Given the description of an element on the screen output the (x, y) to click on. 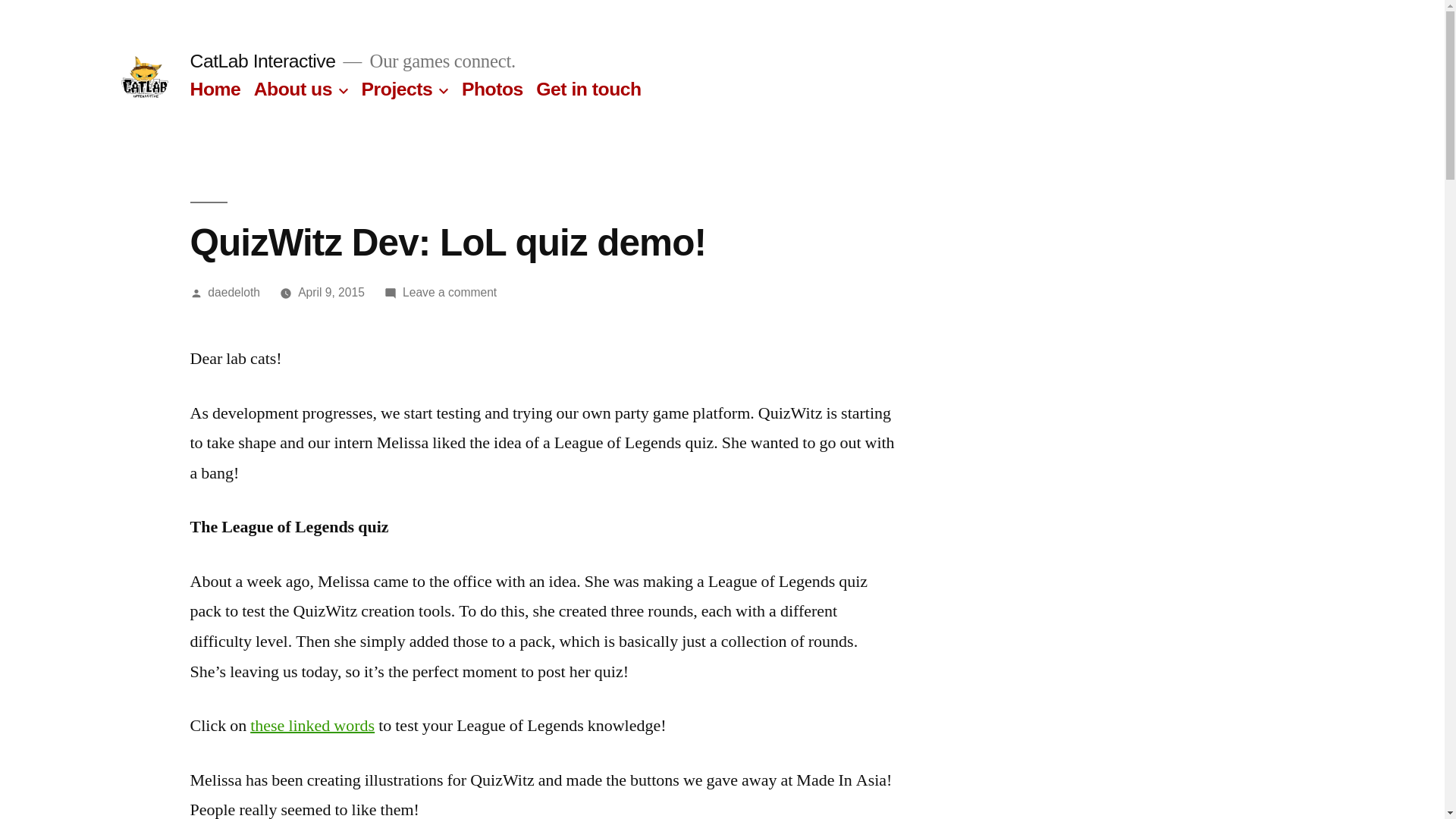
CatLab Interactive Element type: text (262, 60)
Leave a comment
on QuizWitz Dev: LoL quiz demo! Element type: text (449, 291)
Photos Element type: text (492, 88)
Projects Element type: text (397, 88)
April 9, 2015 Element type: text (331, 291)
daedeloth Element type: text (233, 291)
Get in touch Element type: text (588, 88)
About us Element type: text (293, 88)
these linked words Element type: text (312, 725)
Home Element type: text (214, 88)
